Given the description of an element on the screen output the (x, y) to click on. 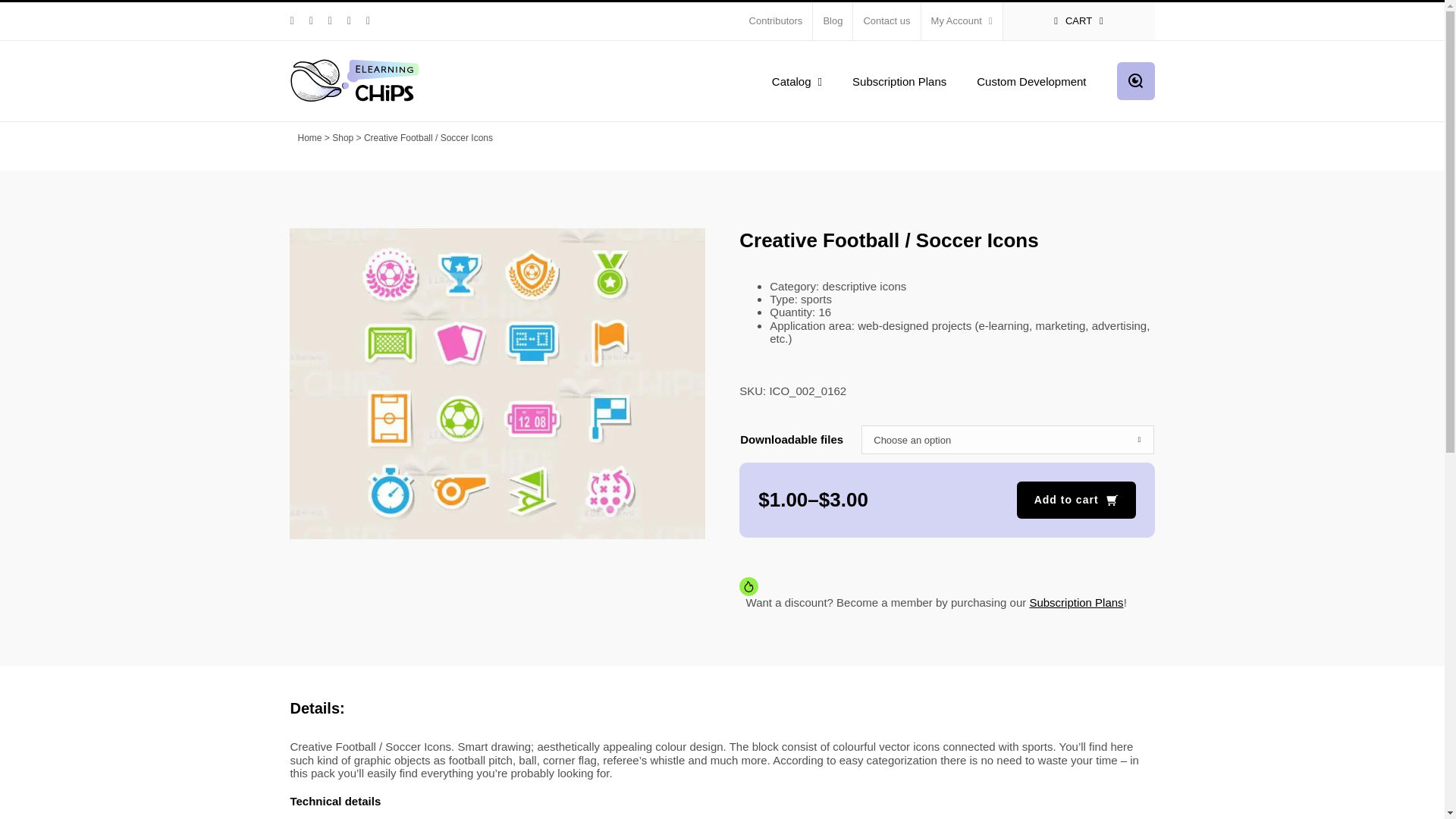
Contributors (775, 21)
Search (1135, 80)
Subscription Plans (898, 79)
CART (1078, 21)
Blog (831, 21)
Log In (1025, 165)
My Account (962, 21)
Custom Development (1031, 79)
Contact us (886, 21)
